Given the description of an element on the screen output the (x, y) to click on. 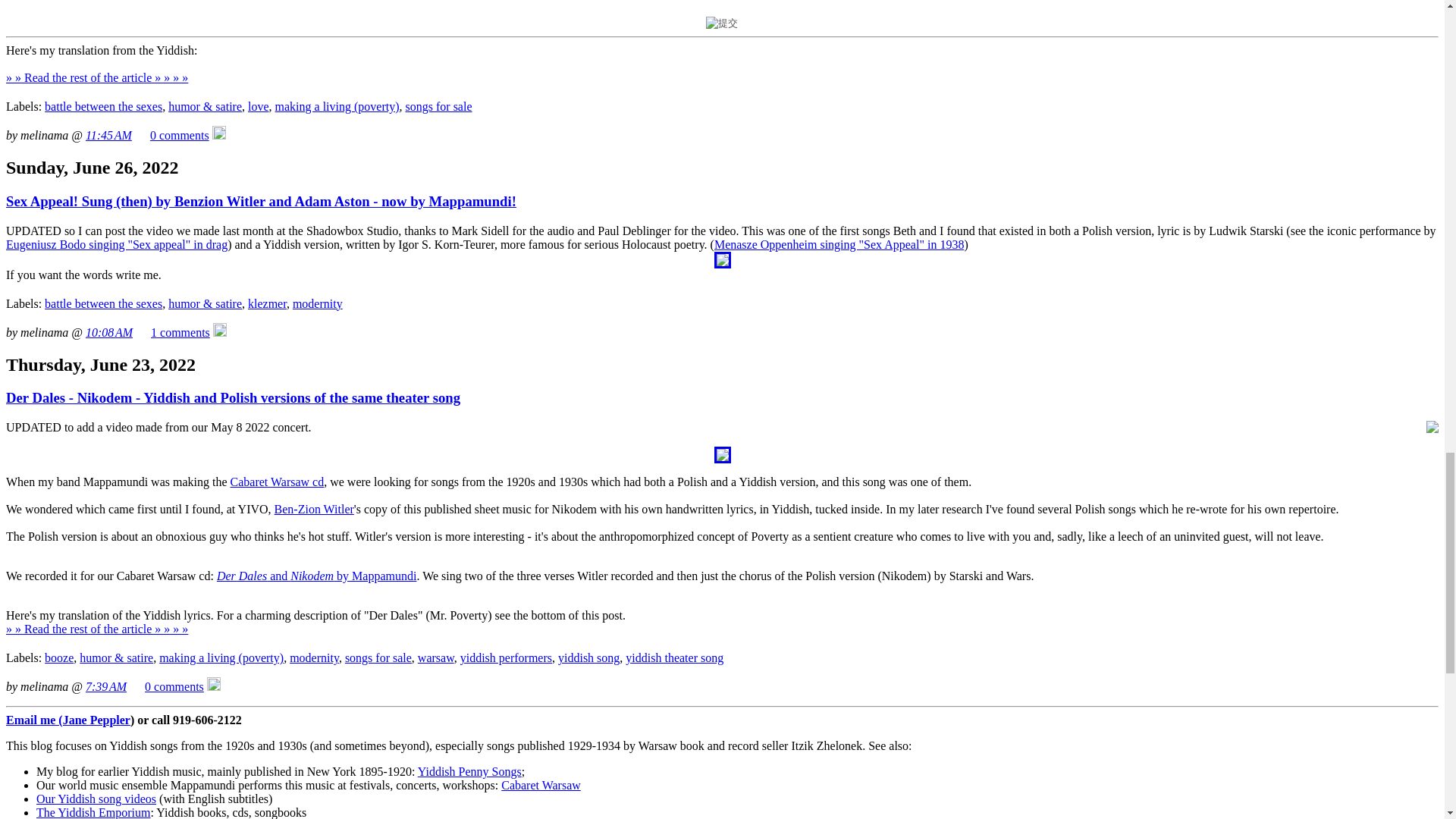
permanent link (108, 332)
Edit Post (213, 686)
permanent link (105, 686)
permanent link (108, 134)
Edit Post (219, 332)
Edit Post (218, 134)
